Given the description of an element on the screen output the (x, y) to click on. 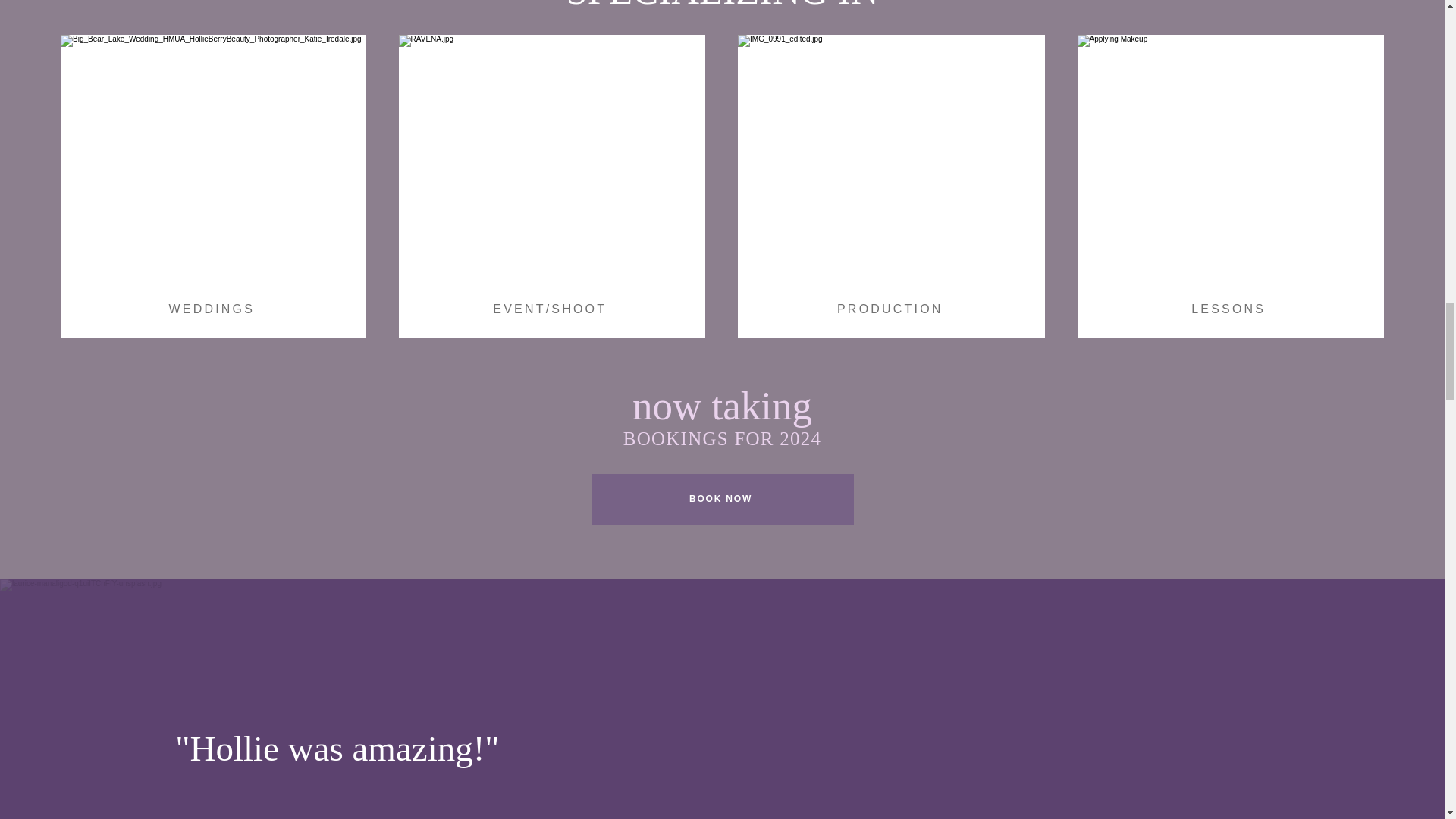
LESSONS (1229, 309)
WEDDINGS (213, 309)
BOOK NOW (722, 499)
PRODUCTION (891, 309)
